Given the description of an element on the screen output the (x, y) to click on. 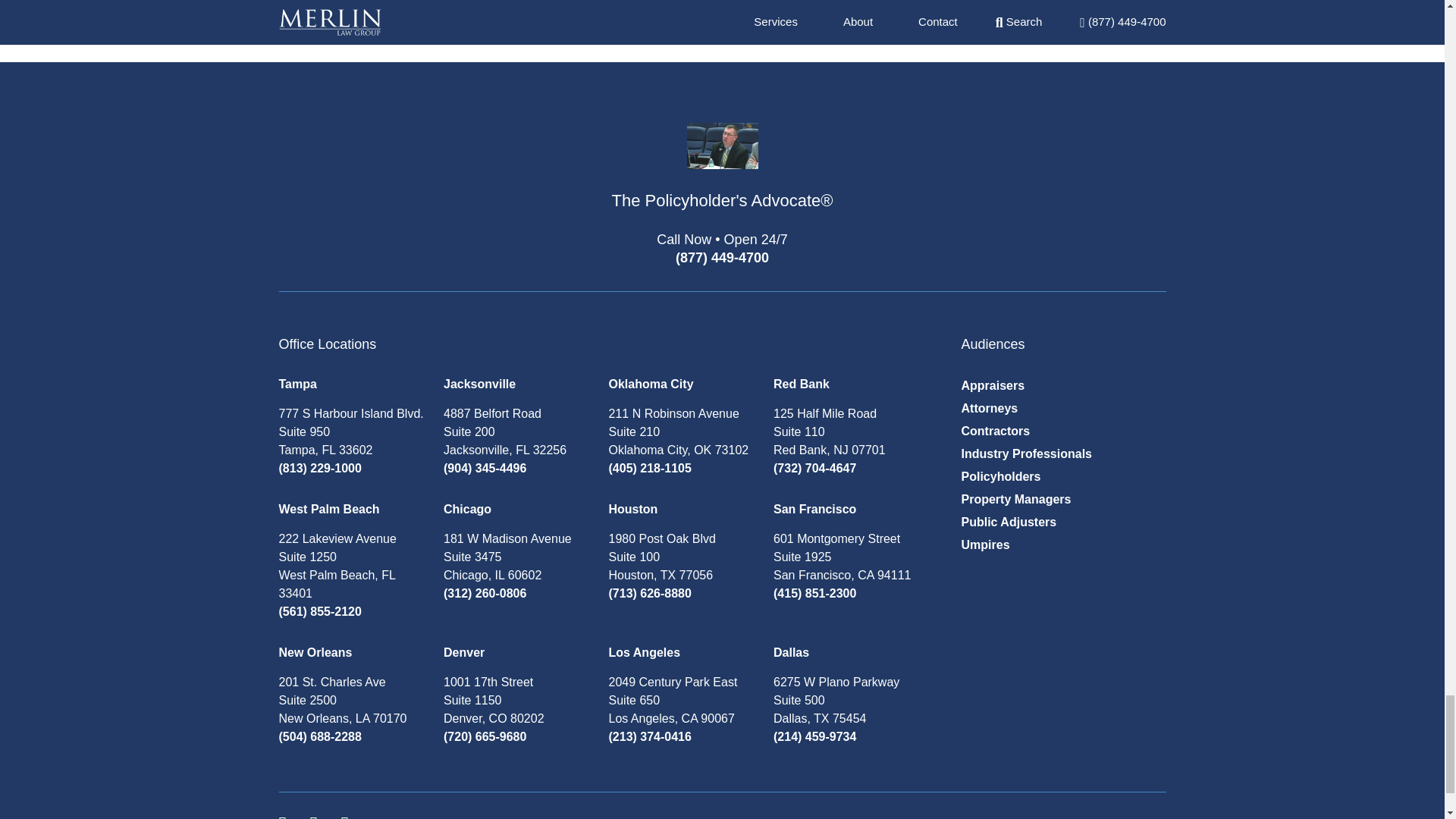
Property Insurance Coverage Law Blog (722, 178)
